Given the description of an element on the screen output the (x, y) to click on. 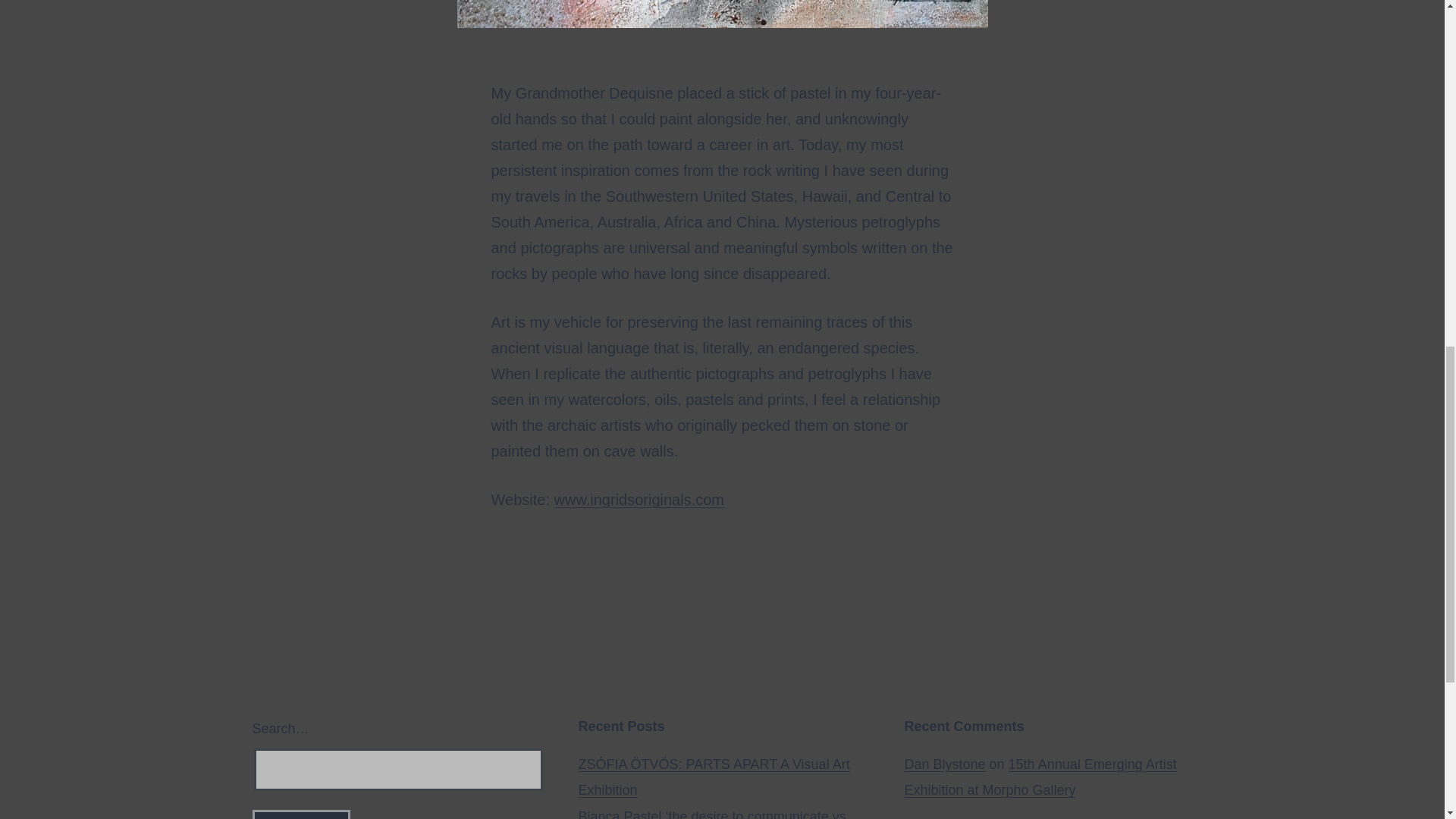
www.ingridsoriginals.com (638, 499)
Search (300, 814)
Search (300, 814)
15th Annual Emerging Artist Exhibition at Morpho Gallery (1040, 776)
Dan Blystone (944, 764)
Search (300, 814)
